Given the description of an element on the screen output the (x, y) to click on. 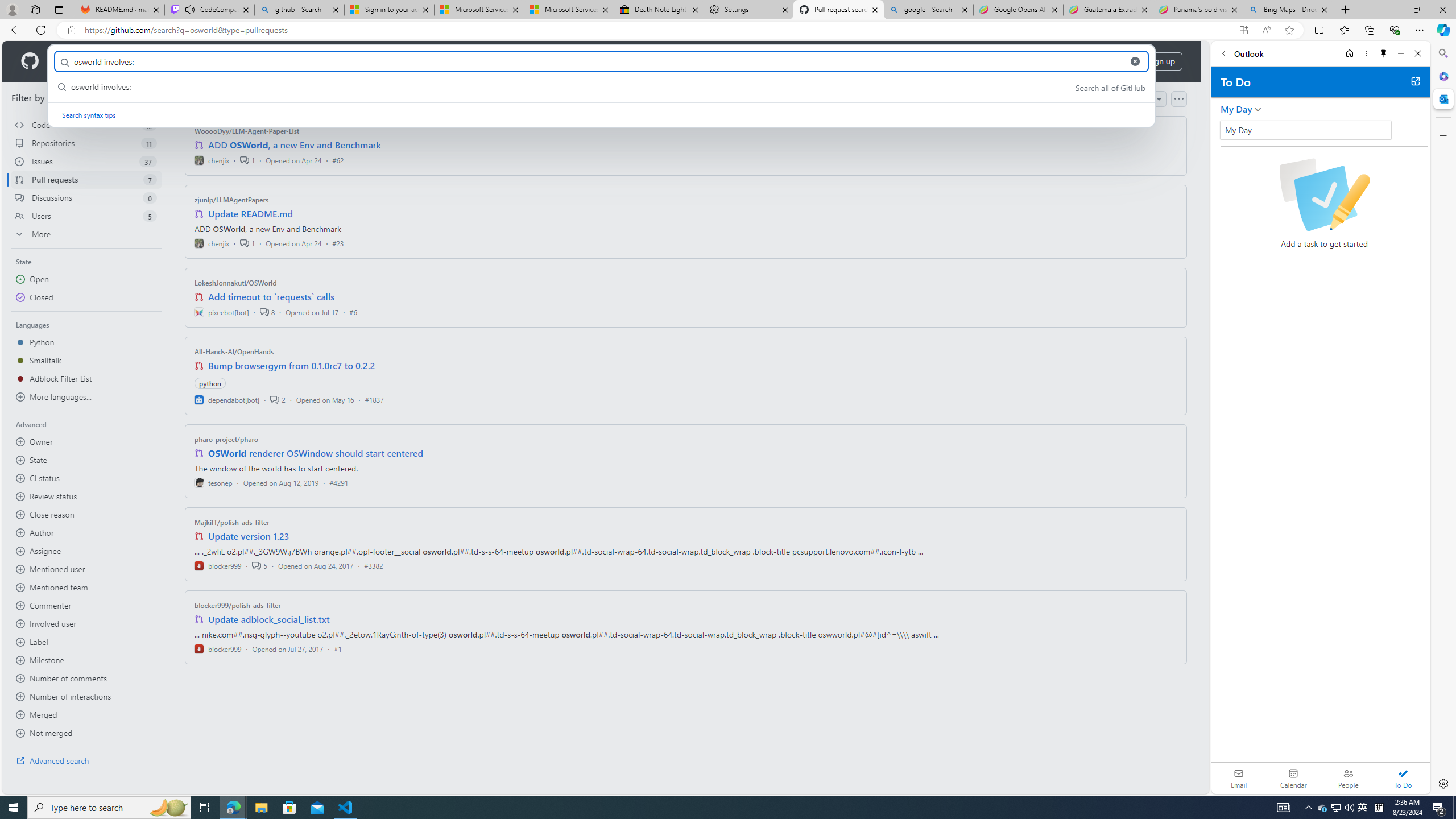
zjunlp/LLMAgentPapers (232, 199)
Solutions (128, 60)
1 (246, 242)
google - Search (928, 9)
All-Hands-AI/OpenHands (234, 351)
Side bar (1443, 418)
My Day (1236, 109)
